Given the description of an element on the screen output the (x, y) to click on. 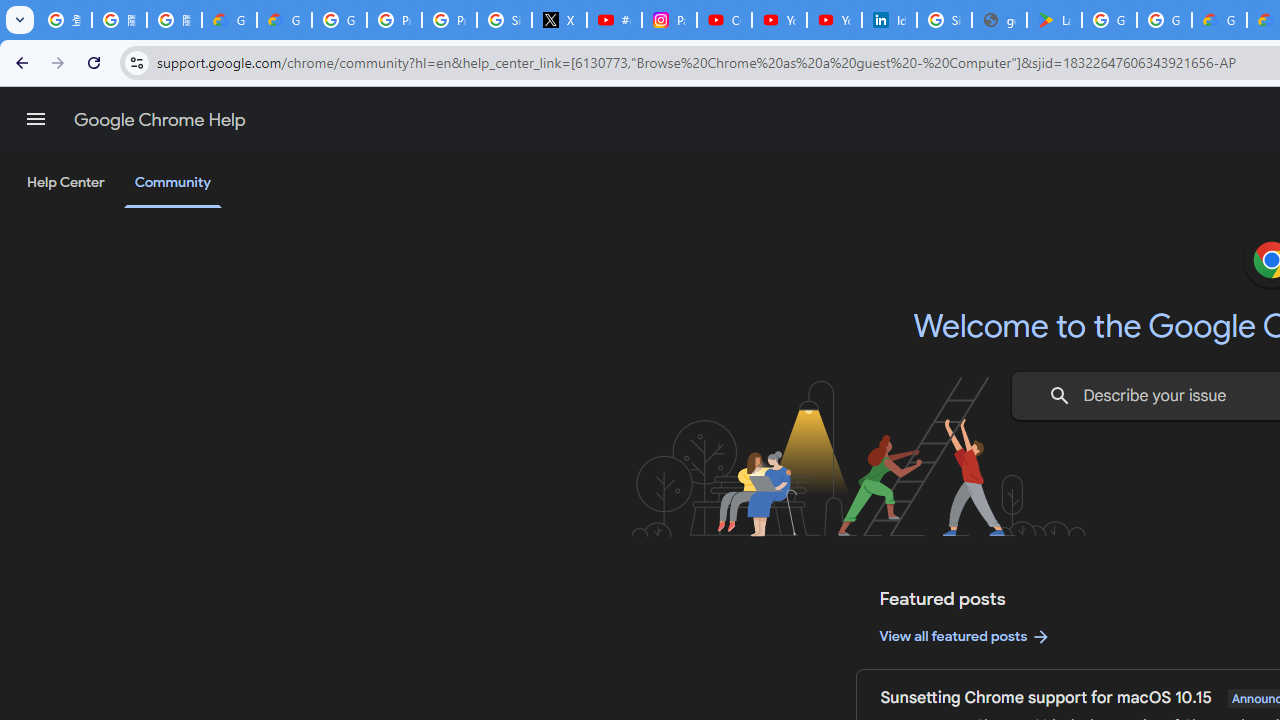
Search (1059, 395)
Google Cloud Privacy Notice (284, 20)
Sign in - Google Accounts (504, 20)
Identity verification via Persona | LinkedIn Help (888, 20)
Last Shelter: Survival - Apps on Google Play (1053, 20)
Sign in - Google Accounts (943, 20)
google_privacy_policy_en.pdf (998, 20)
Google Cloud Privacy Notice (229, 20)
